Given the description of an element on the screen output the (x, y) to click on. 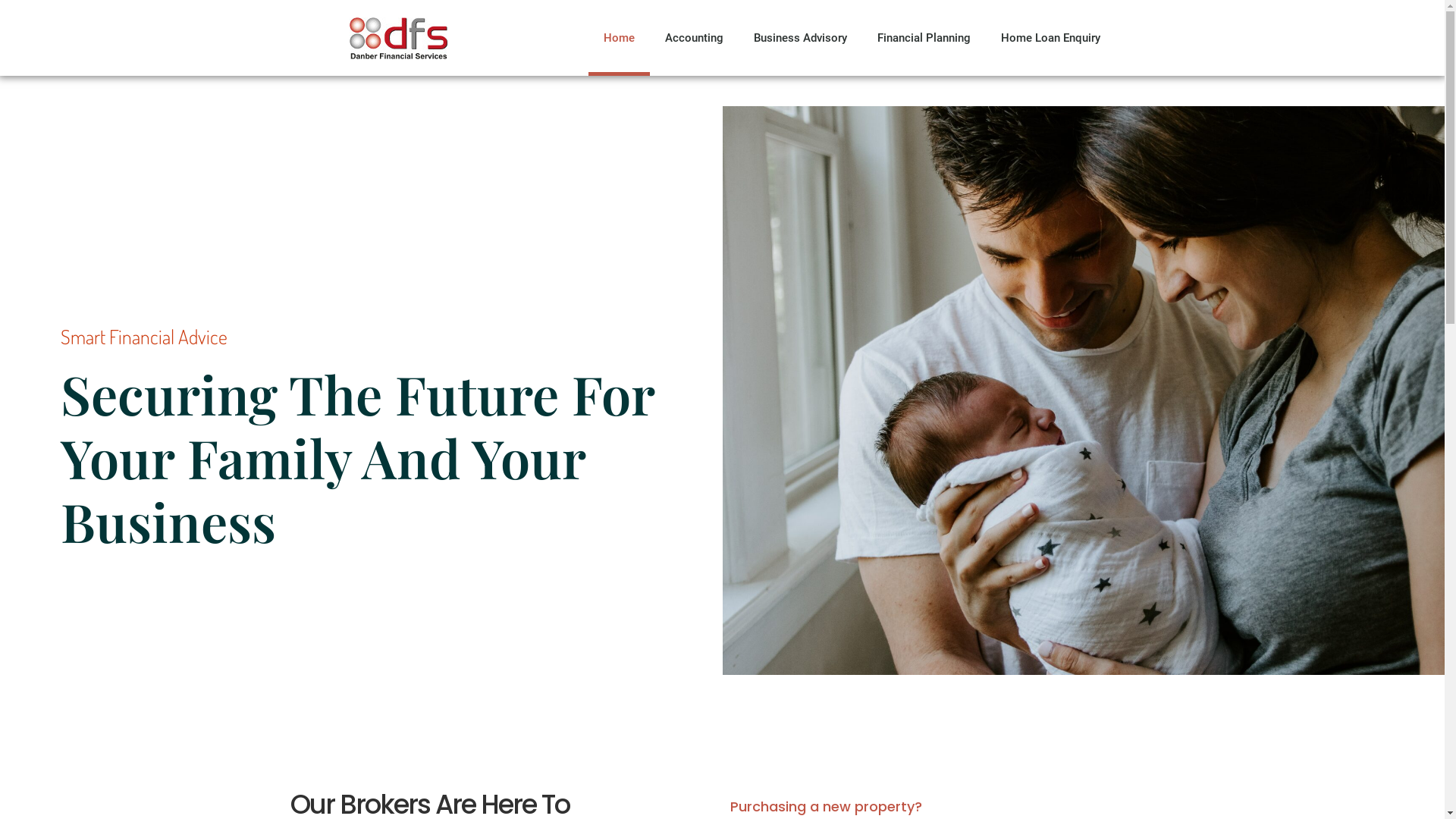
Accounting Element type: text (693, 37)
Home Loan Enquiry Element type: text (1050, 37)
Business Advisory Element type: text (800, 37)
Financial Planning Element type: text (923, 37)
Home Element type: text (618, 37)
Purchasing a new property? Element type: text (825, 806)
